Given the description of an element on the screen output the (x, y) to click on. 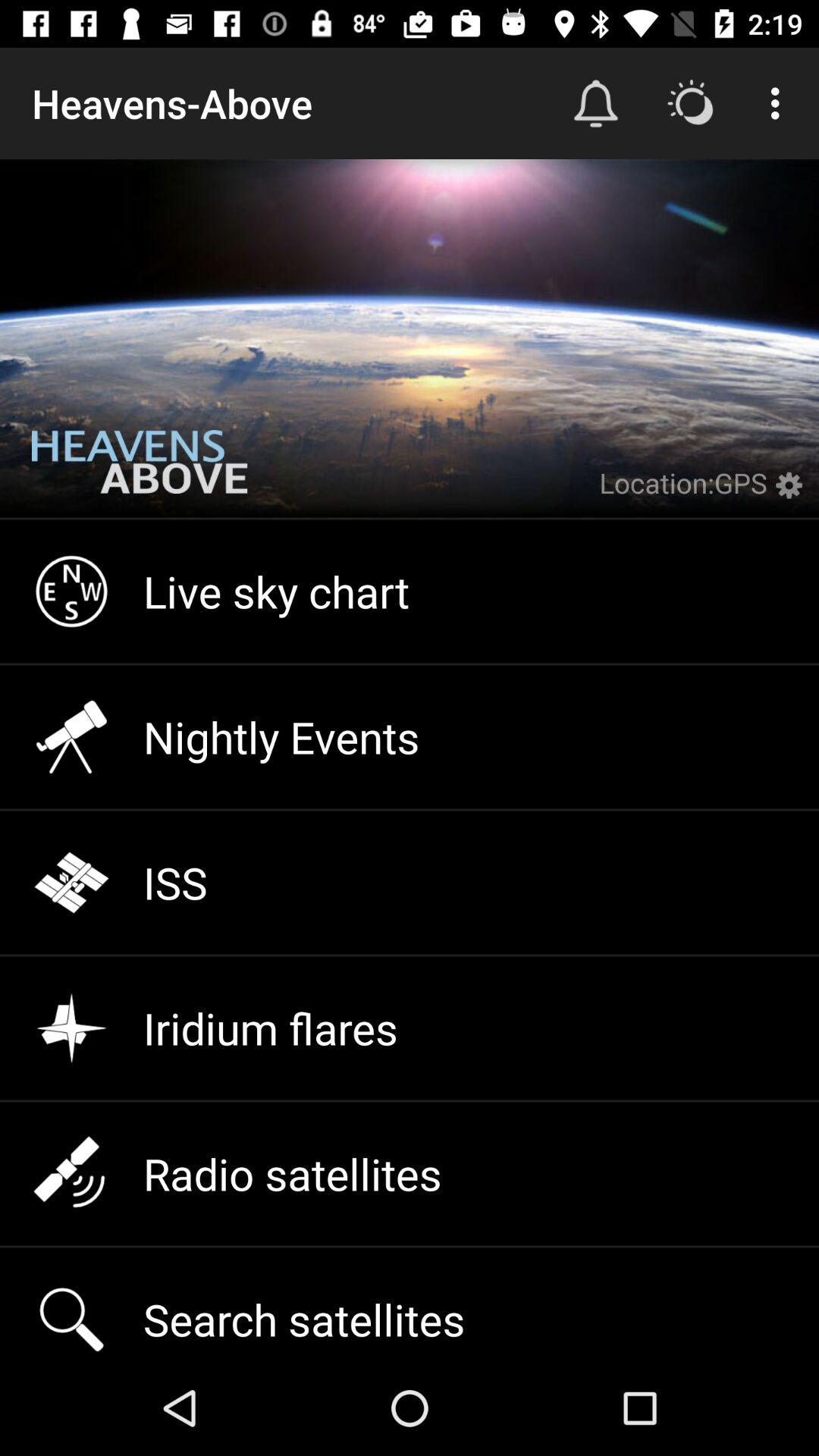
flip until the search satellites (409, 1303)
